Given the description of an element on the screen output the (x, y) to click on. 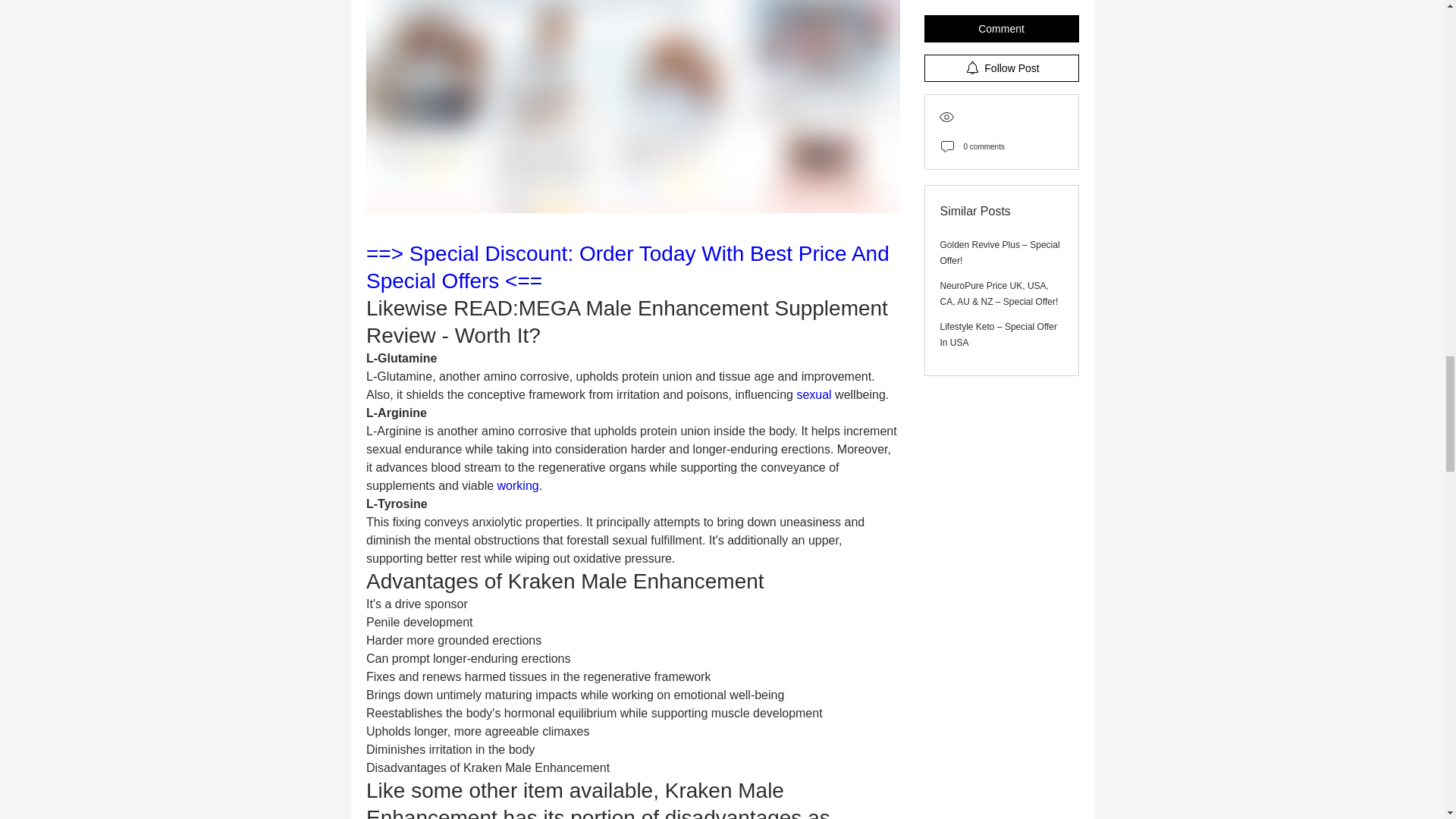
working (517, 485)
sexual  (815, 394)
